Given the description of an element on the screen output the (x, y) to click on. 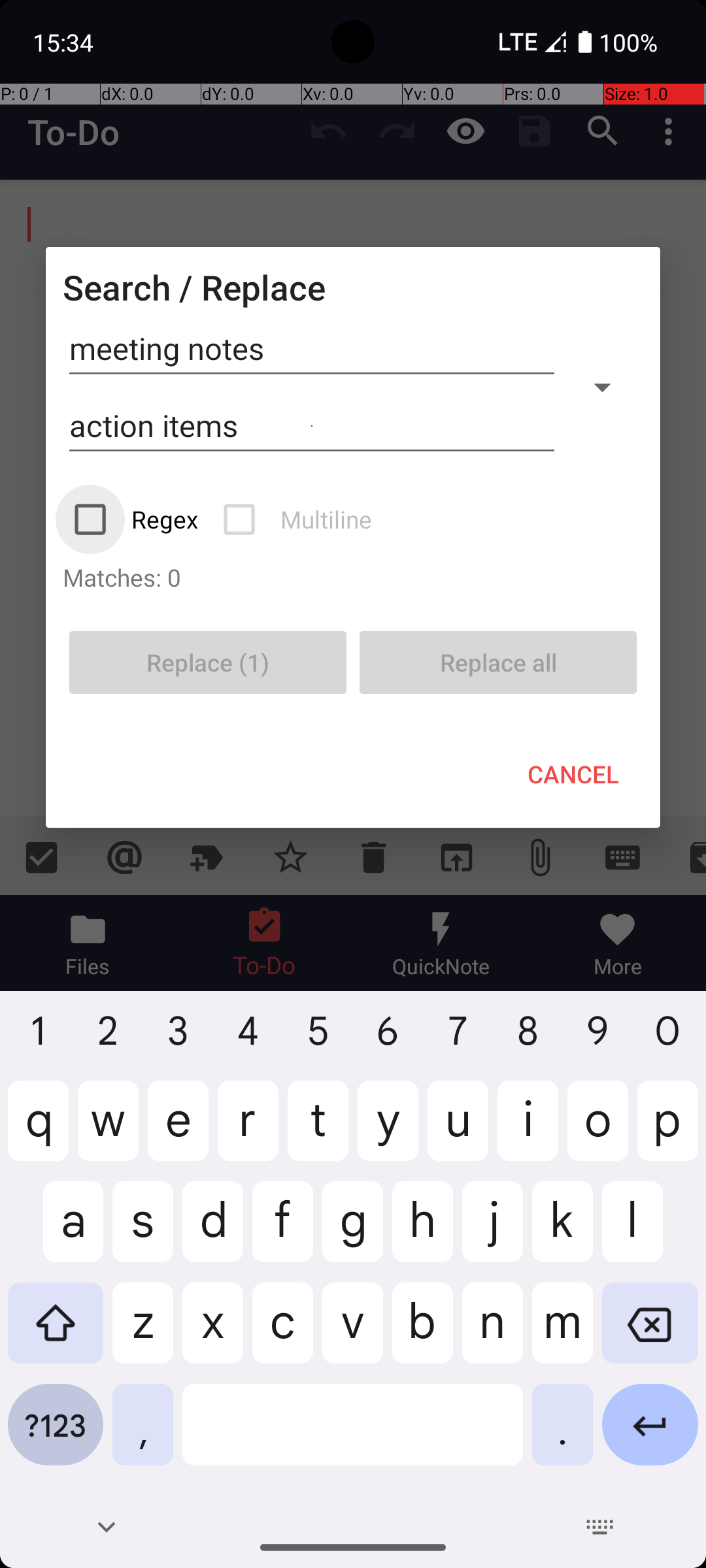
Search / Replace Element type: android.widget.TextView (193, 286)
meeting notes Element type: android.widget.EditText (311, 348)
action items Element type: android.widget.EditText (311, 425)
Regex Element type: android.widget.CheckBox (136, 518)
Multiline Element type: android.widget.CheckBox (298, 518)
Matches: 0 Element type: android.widget.TextView (352, 576)
Replace (1) Element type: android.widget.Button (207, 662)
Replace all Element type: android.widget.Button (498, 662)
